Given the description of an element on the screen output the (x, y) to click on. 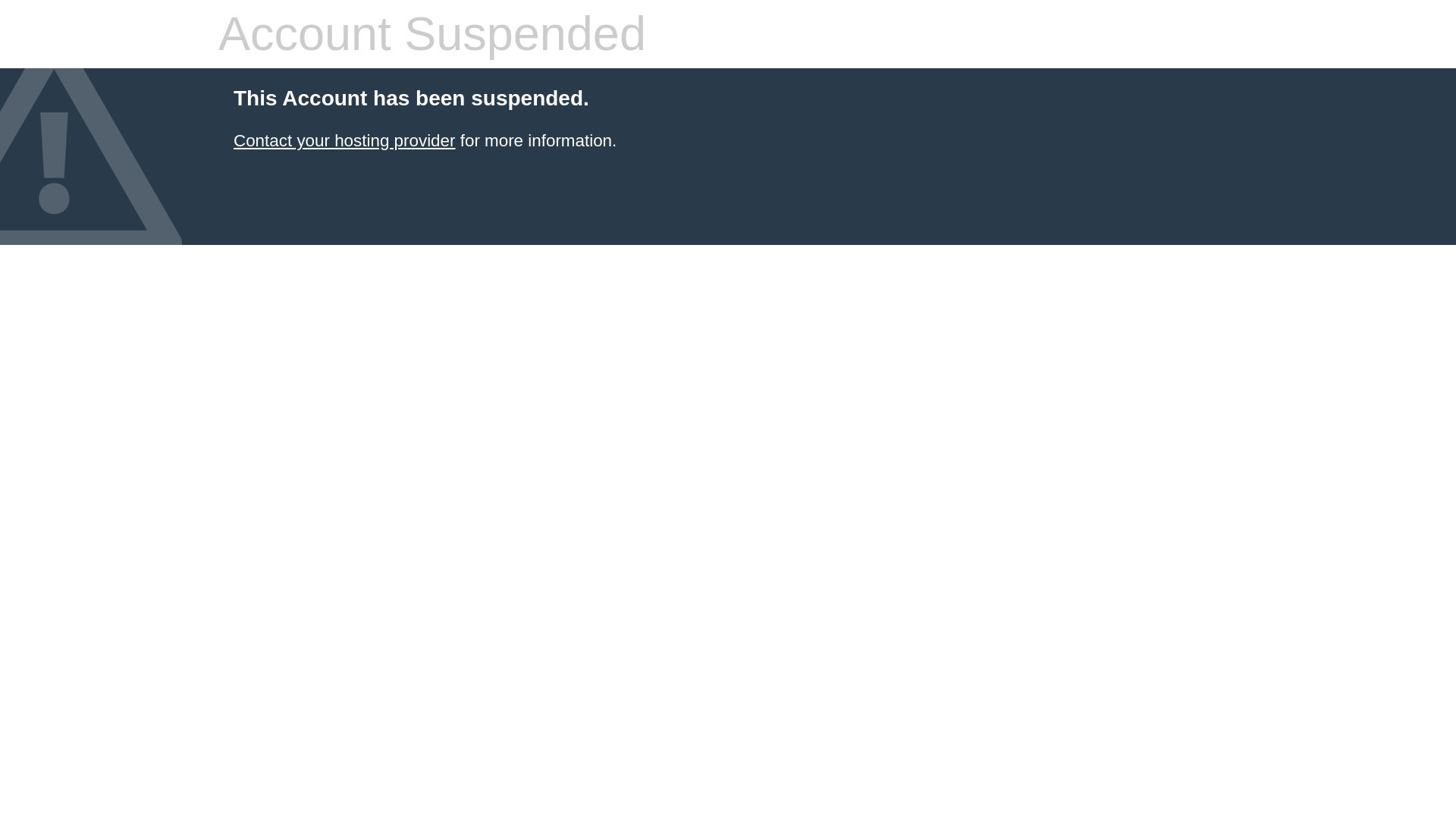
Contact your hosting provider (343, 140)
